Given the description of an element on the screen output the (x, y) to click on. 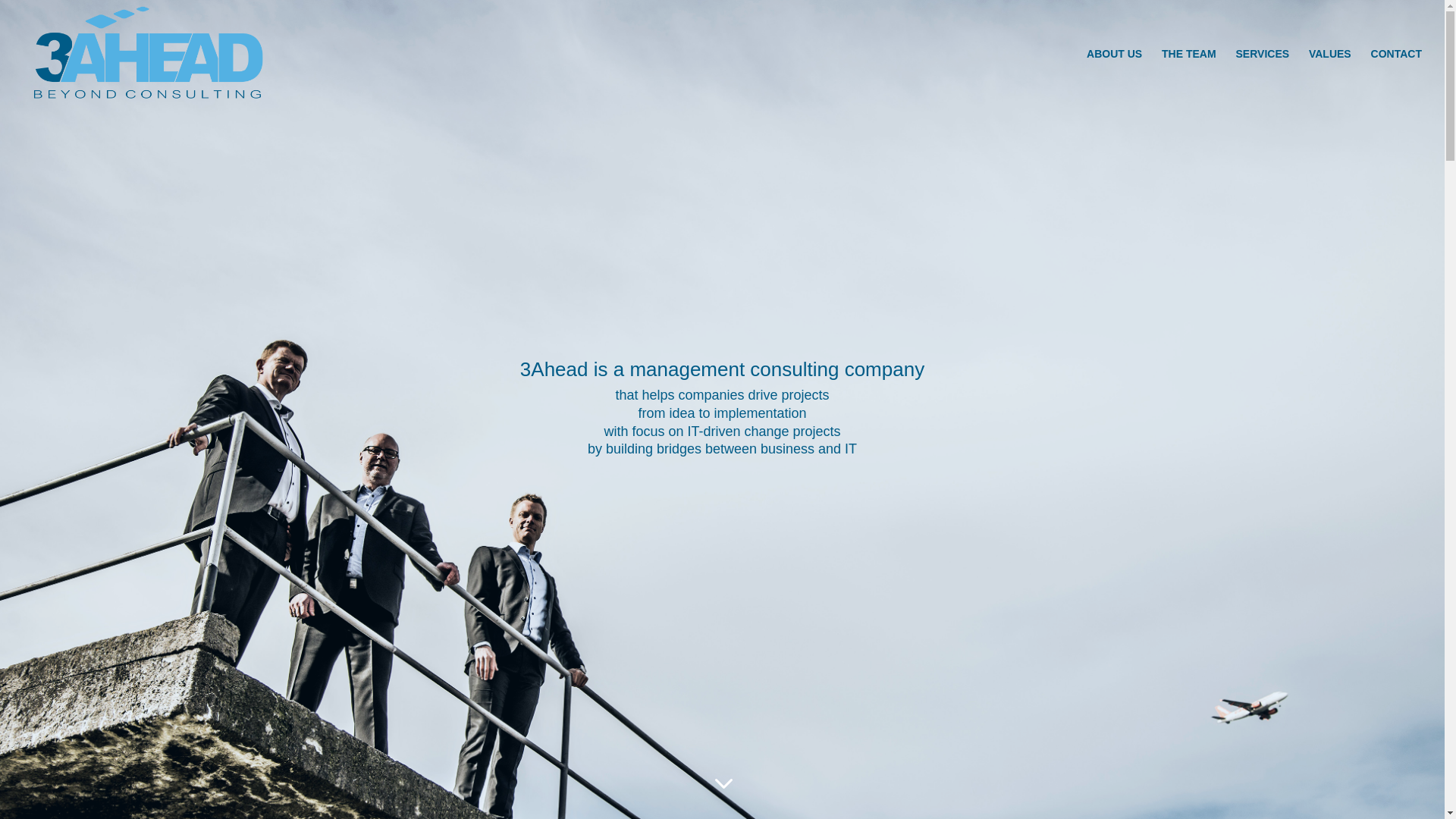
THE TEAM Element type: text (1188, 77)
SERVICES Element type: text (1262, 77)
VALUES Element type: text (1329, 77)
CONTACT Element type: text (1396, 77)
ABOUT US Element type: text (1114, 77)
3 Element type: text (721, 782)
